Given the description of an element on the screen output the (x, y) to click on. 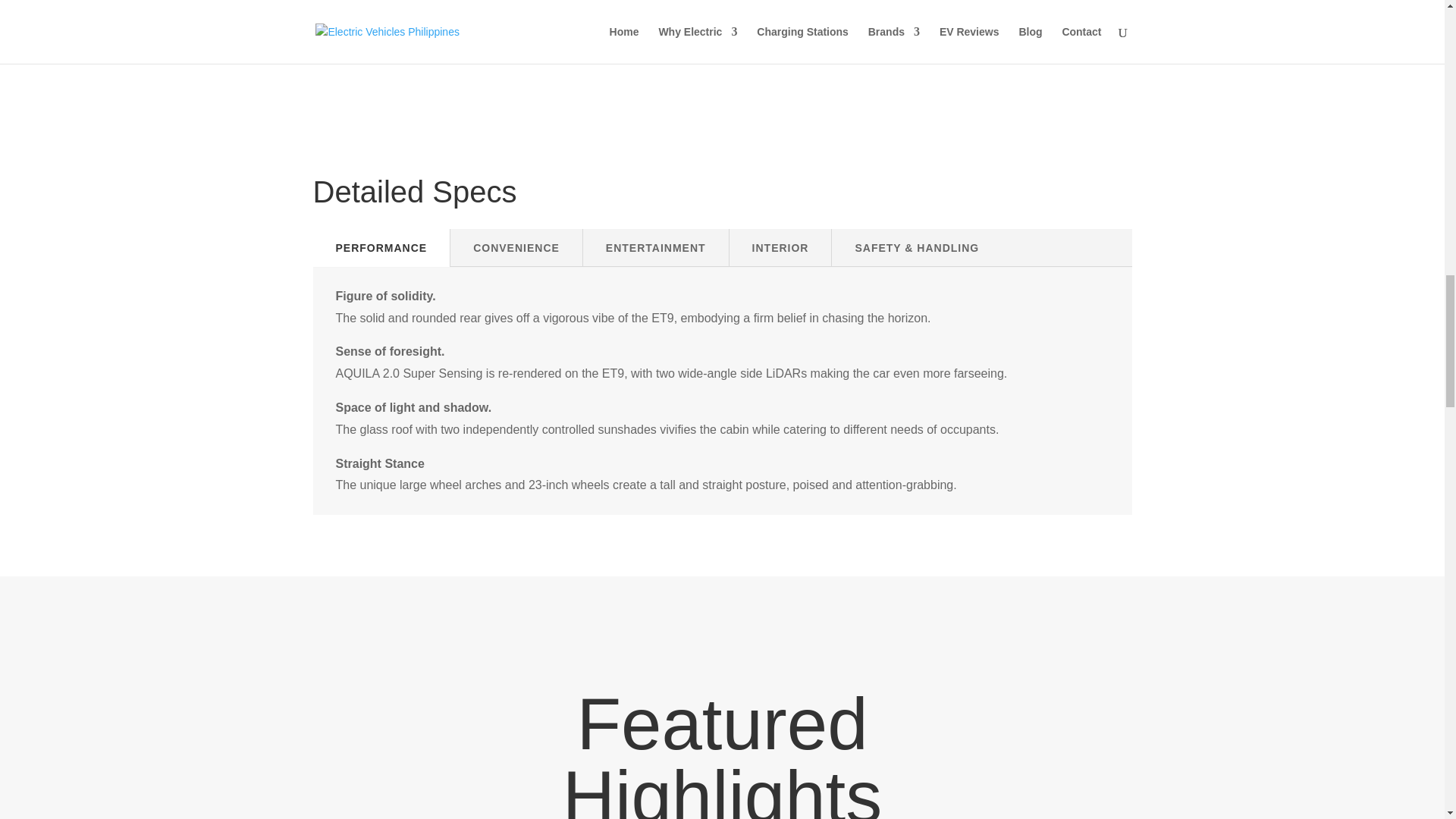
ENTERTAINMENT (656, 247)
PERFORMANCE (381, 247)
INTERIOR (780, 247)
CONVENIENCE (515, 247)
